Given the description of an element on the screen output the (x, y) to click on. 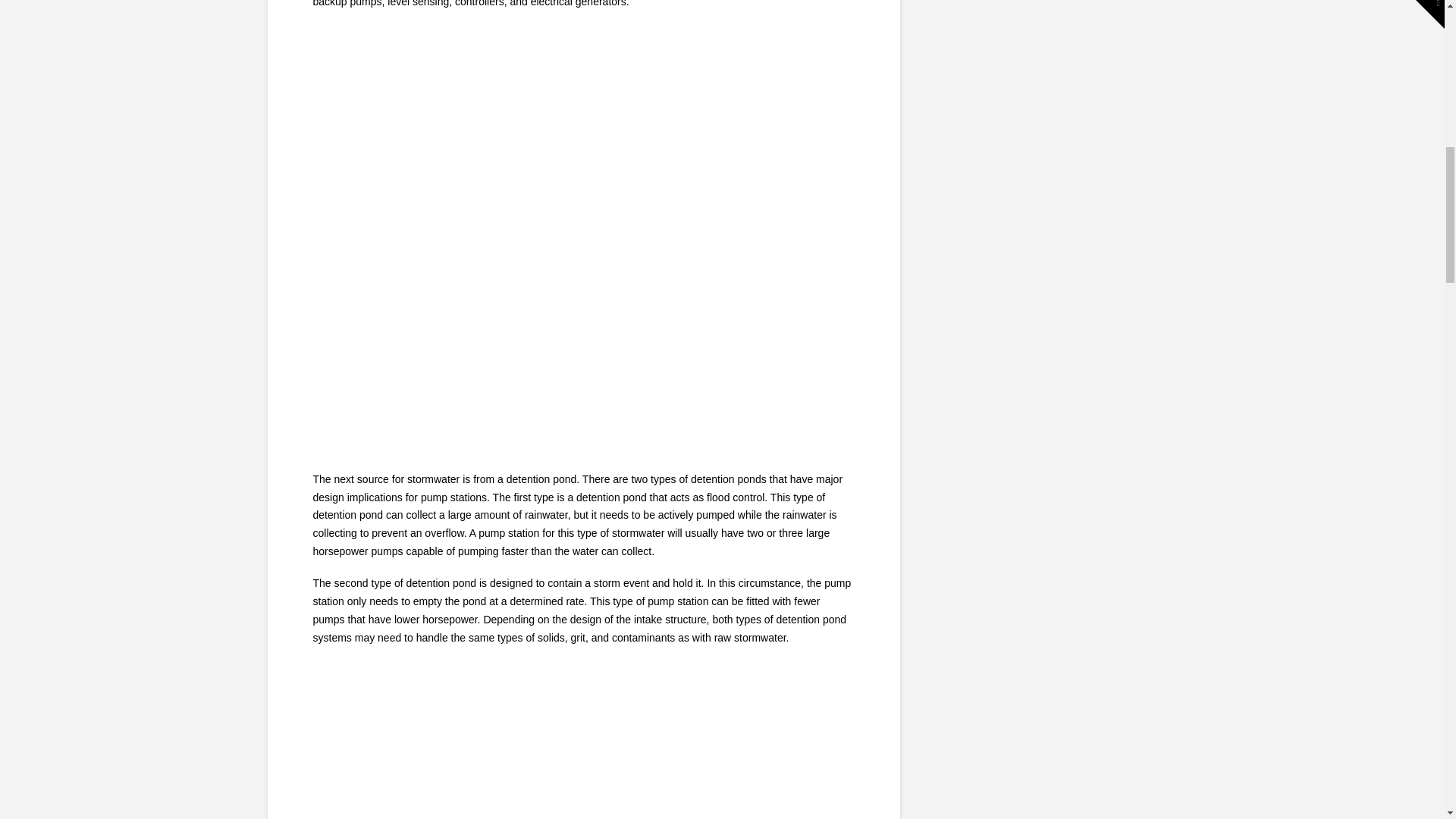
stormwater-wetland-with-pump-station (583, 746)
